Given the description of an element on the screen output the (x, y) to click on. 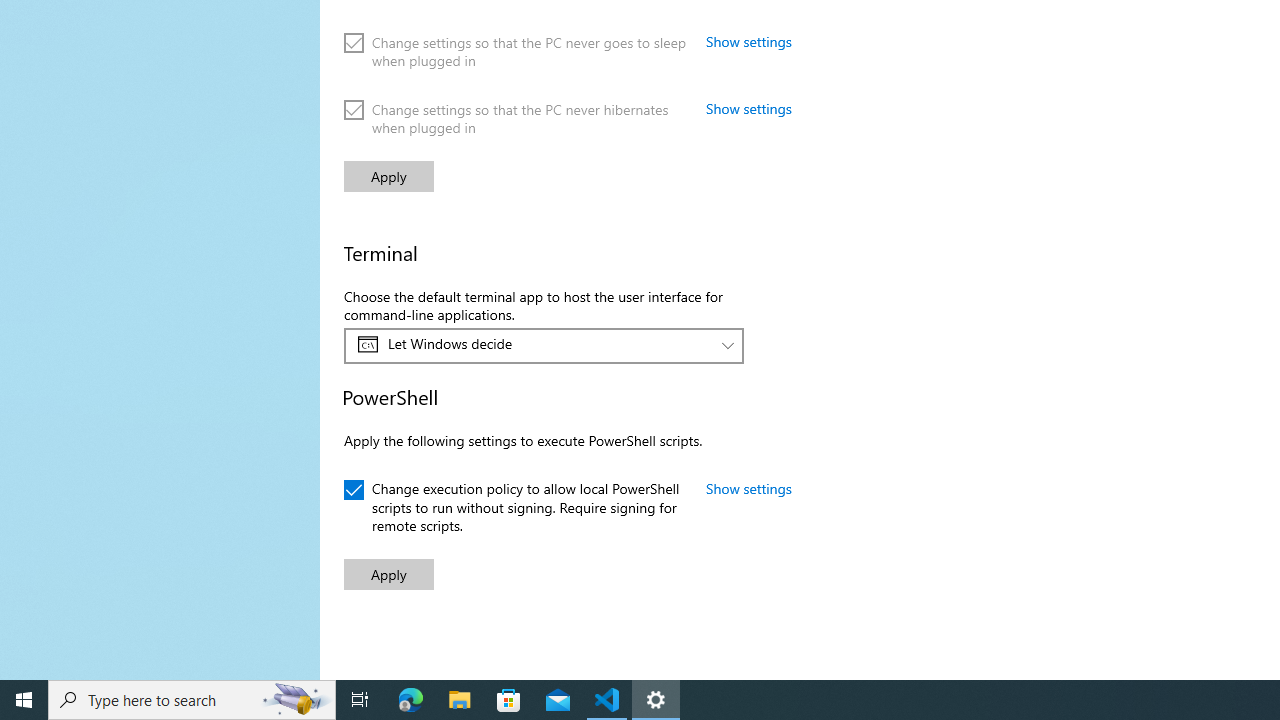
Settings - 1 running window (656, 699)
